Given the description of an element on the screen output the (x, y) to click on. 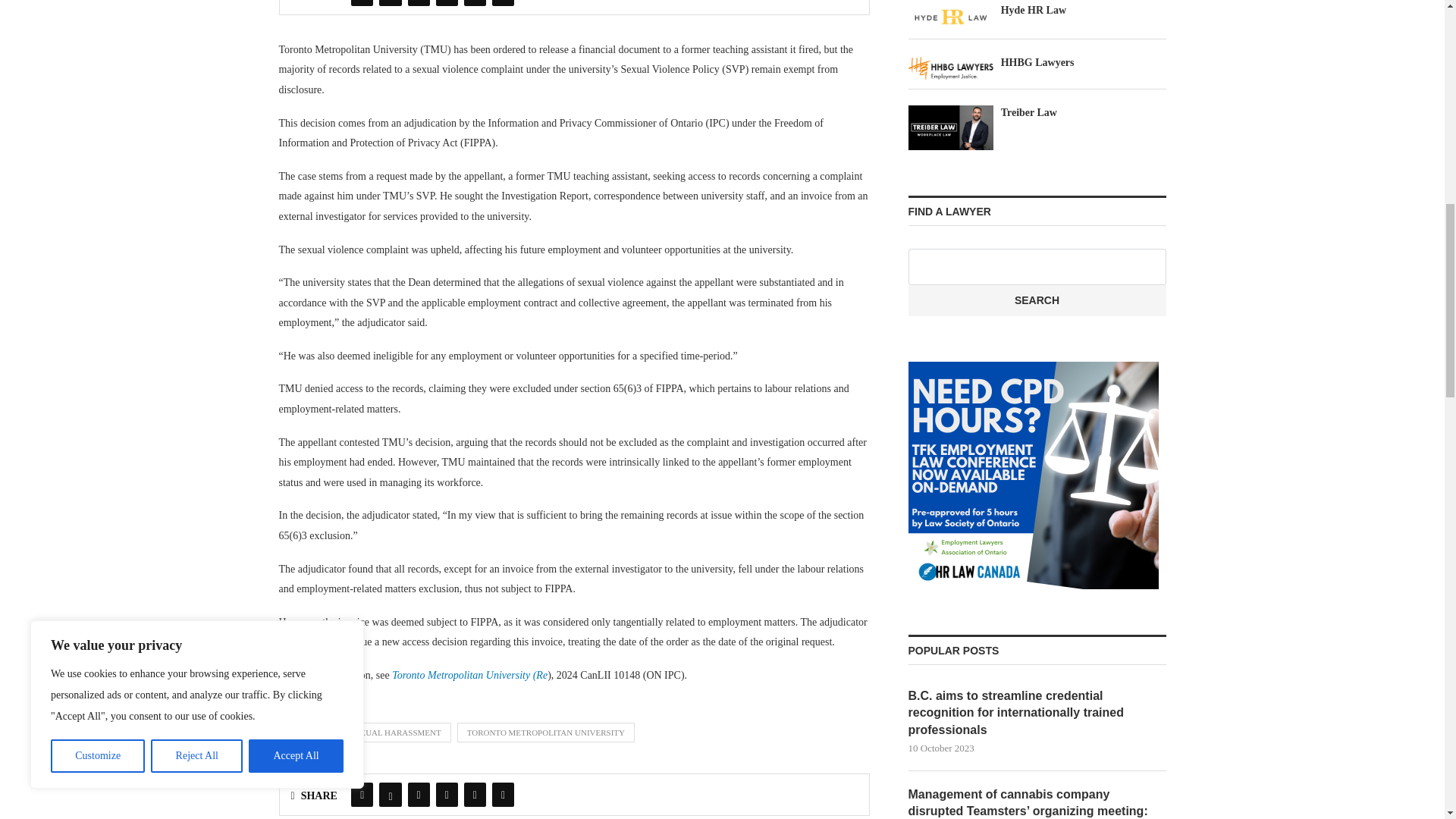
Search (1037, 300)
Search (1037, 300)
